Given the description of an element on the screen output the (x, y) to click on. 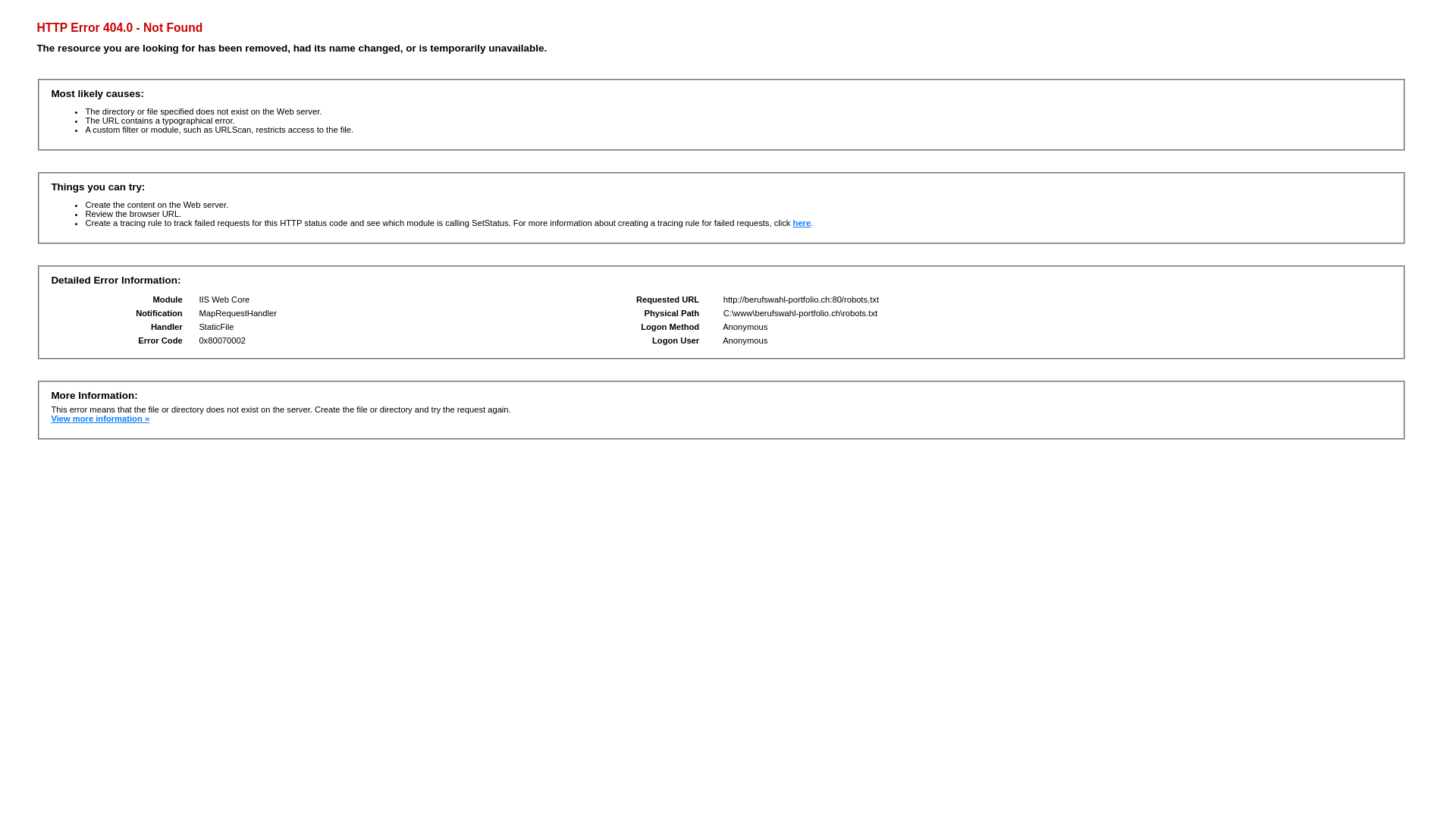
here Element type: text (802, 222)
